Given the description of an element on the screen output the (x, y) to click on. 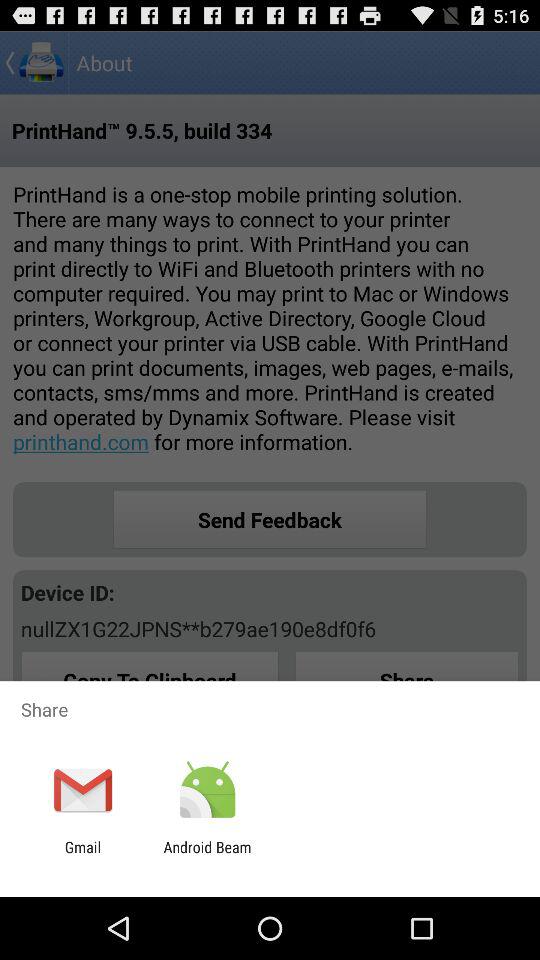
click the android beam icon (207, 856)
